Given the description of an element on the screen output the (x, y) to click on. 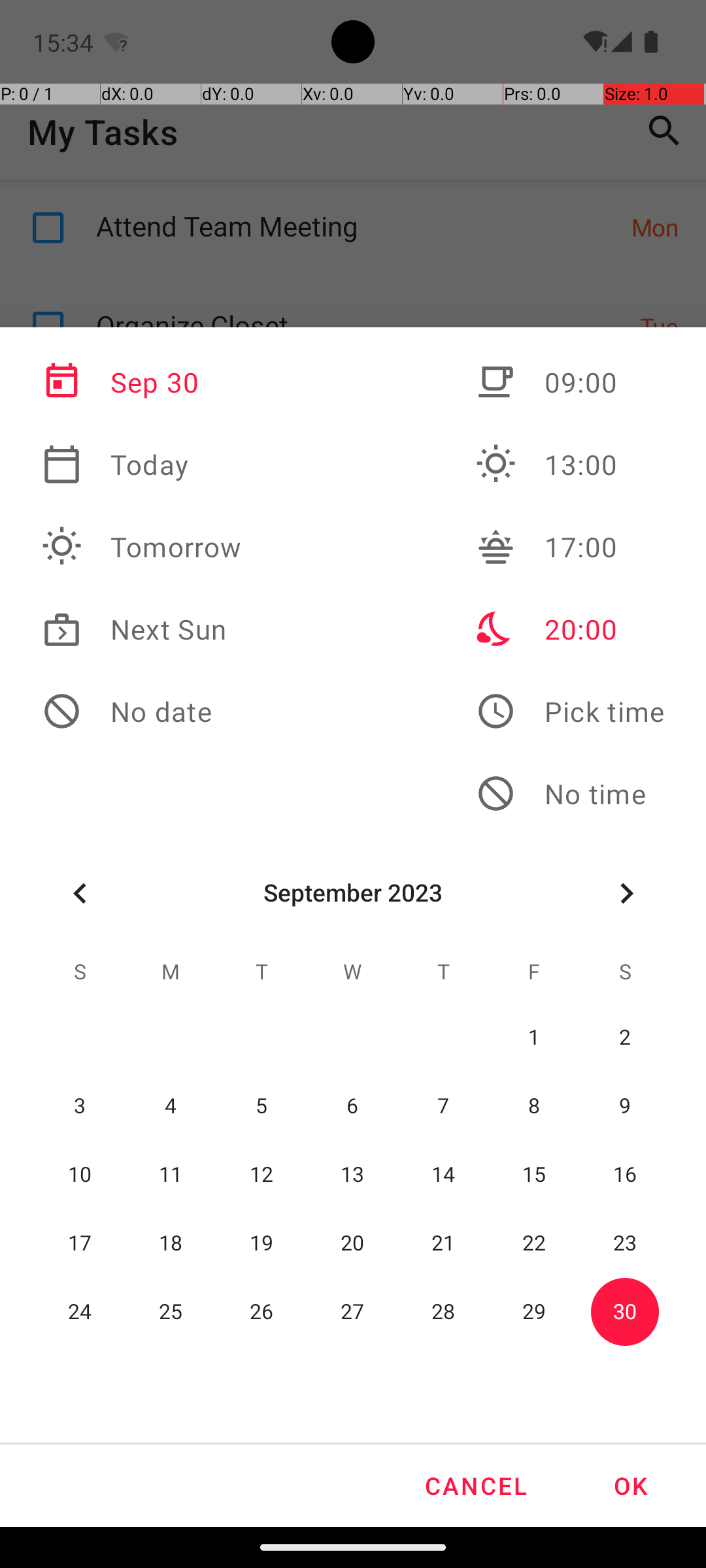
Sep 30 Element type: android.widget.CompoundButton (141, 382)
